Given the description of an element on the screen output the (x, y) to click on. 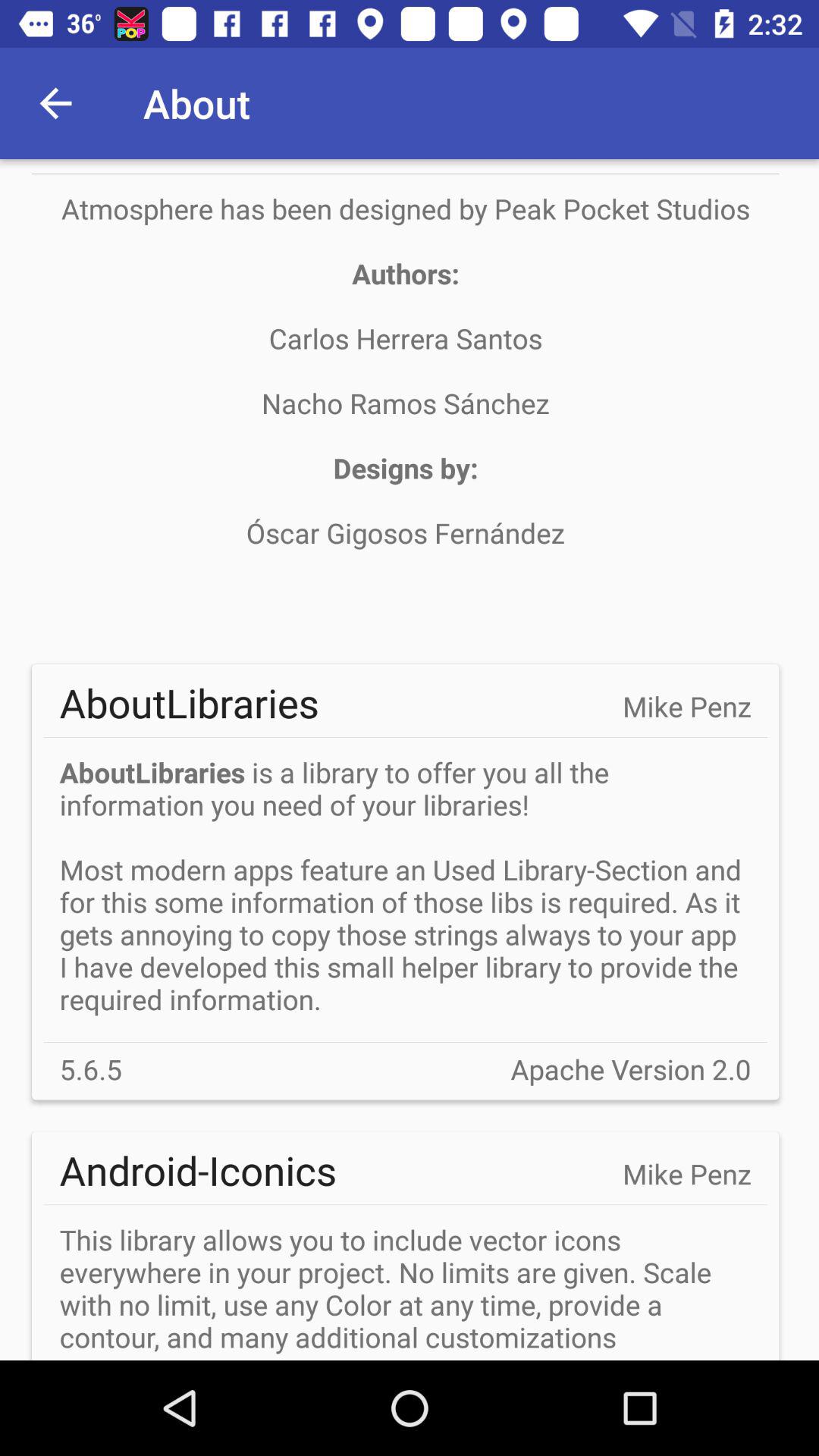
jump to the atmosphere has been icon (405, 403)
